Given the description of an element on the screen output the (x, y) to click on. 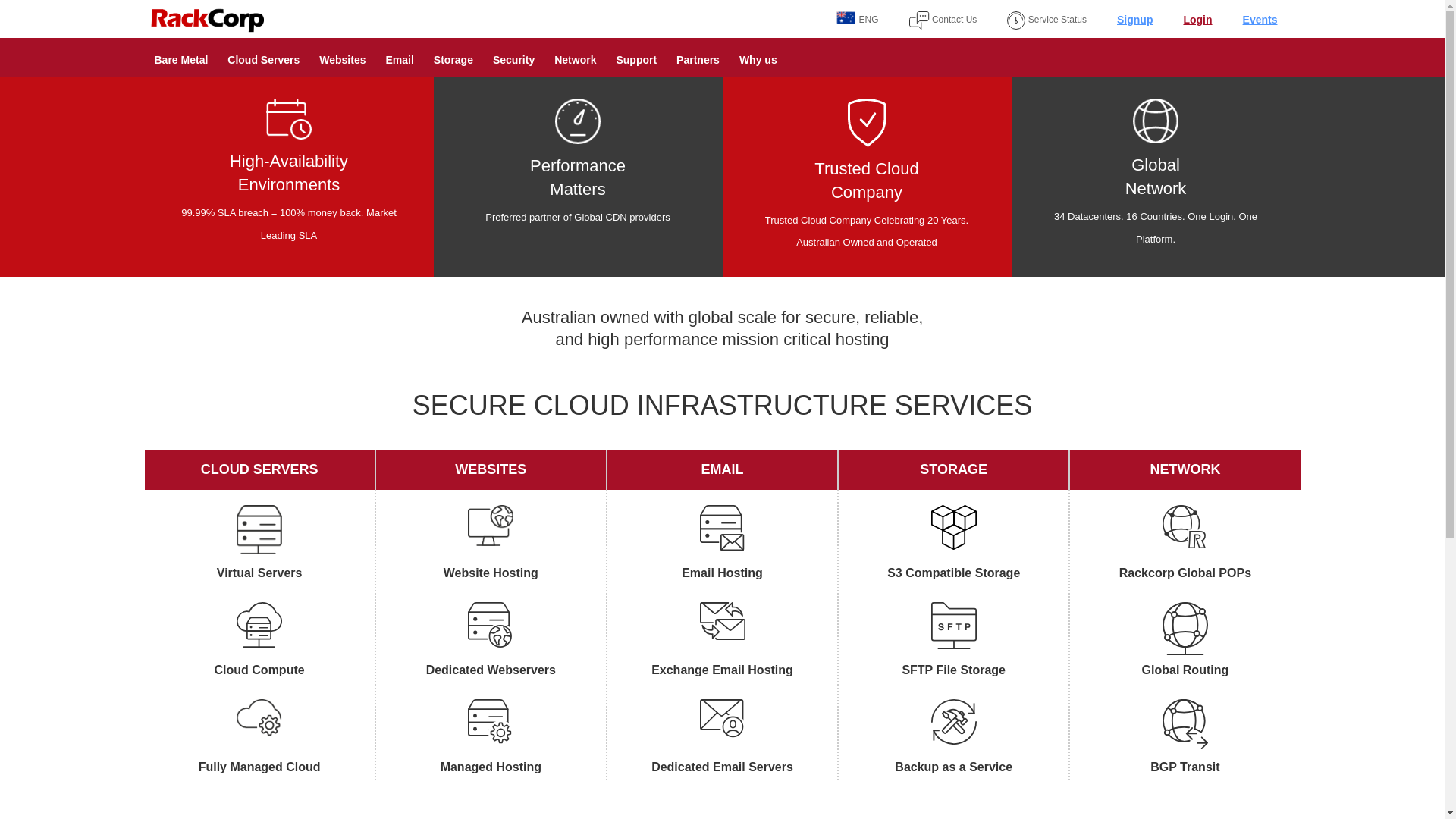
Website Hosting Element type: text (490, 542)
Signup Element type: text (1134, 19)
Events Element type: text (1259, 19)
BGP Transit Element type: text (1184, 736)
Service Status Element type: text (1046, 20)
Dedicated Webservers Element type: text (490, 639)
SFTP File Storage Element type: text (953, 639)
global routing Element type: hover (1155, 120)
Login Element type: text (1197, 19)
higher availability Element type: hover (288, 118)
contact_us Element type: hover (919, 20)
Fully Managed Cloud Element type: text (259, 736)
Global Routing Element type: text (1184, 639)
Virtual Servers Element type: text (259, 542)
Backup as a Service Element type: text (953, 736)
Exchange Email Hosting Element type: text (721, 639)
Dedicated Email Servers Element type: text (721, 736)
service_status Element type: hover (1016, 20)
Cloud Compute Element type: text (259, 639)
Rackcorp Global POPs Element type: text (1184, 542)
Contact Us Element type: text (943, 20)
Email Hosting Element type: text (721, 542)
our company Element type: hover (866, 122)
S3 Compatible Storage Element type: text (953, 542)
Managed Hosting Element type: text (490, 736)
higher availability Element type: hover (577, 121)
